Given the description of an element on the screen output the (x, y) to click on. 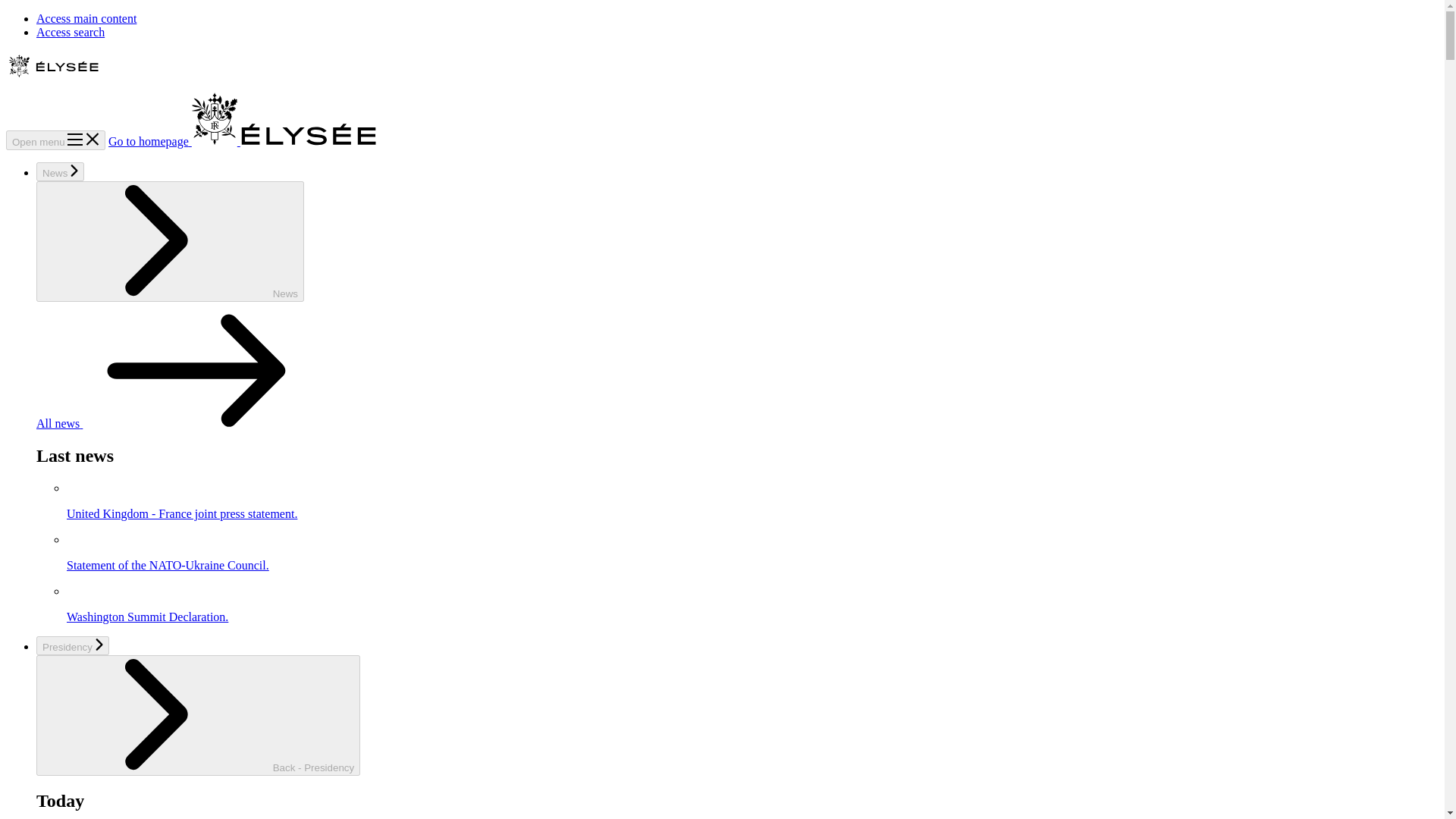
News (60, 171)
All news (173, 422)
Open menu (54, 139)
Access main content (86, 18)
Back - Presidency (197, 715)
News (170, 241)
Go to homepage (242, 141)
Access search (70, 31)
Presidency (72, 645)
